Given the description of an element on the screen output the (x, y) to click on. 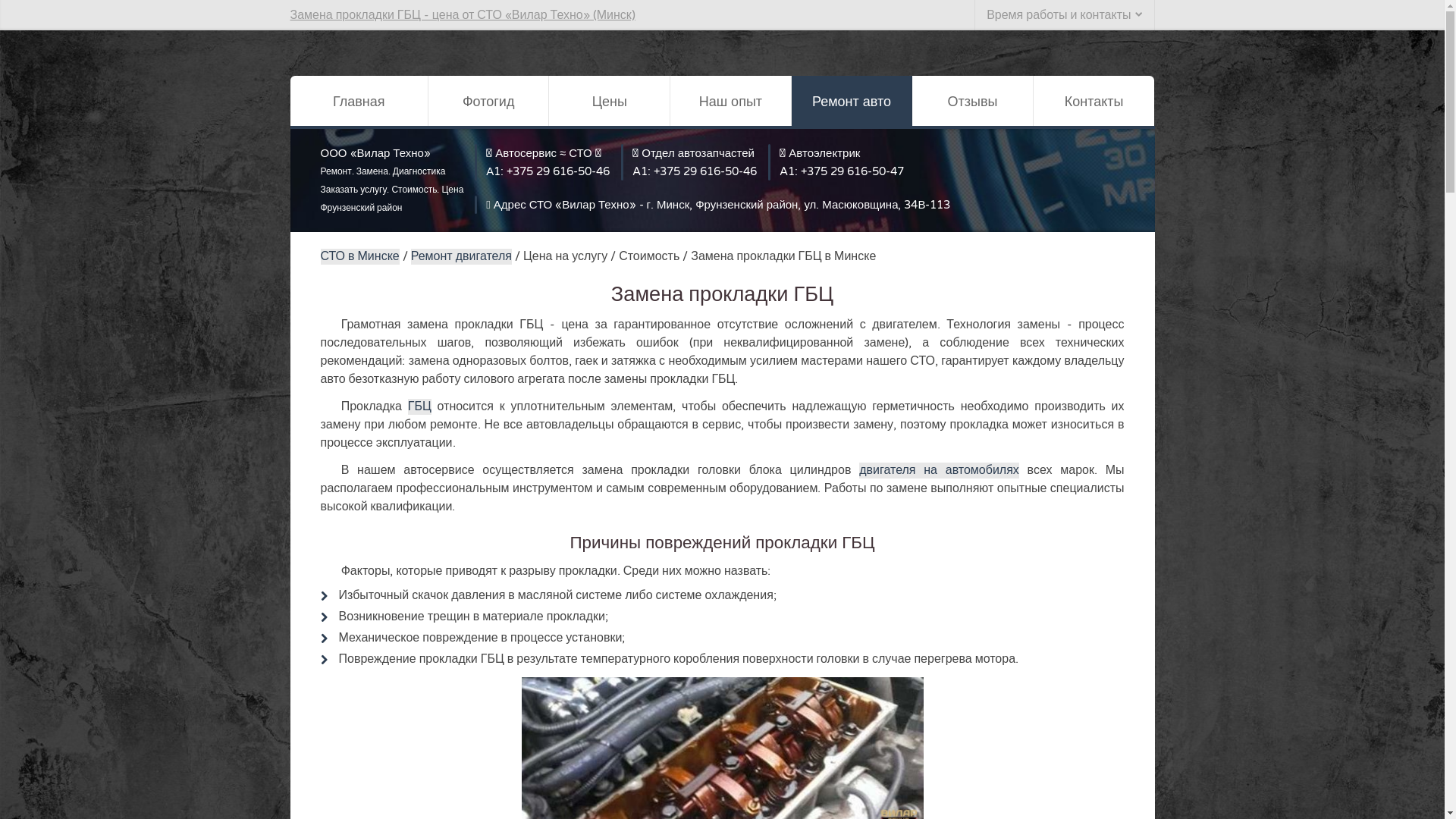
+375 29 616-50-47 Element type: text (851, 171)
+375 29 616-50-46 Element type: text (557, 171)
+375 29 616-50-46 Element type: text (704, 171)
